Given the description of an element on the screen output the (x, y) to click on. 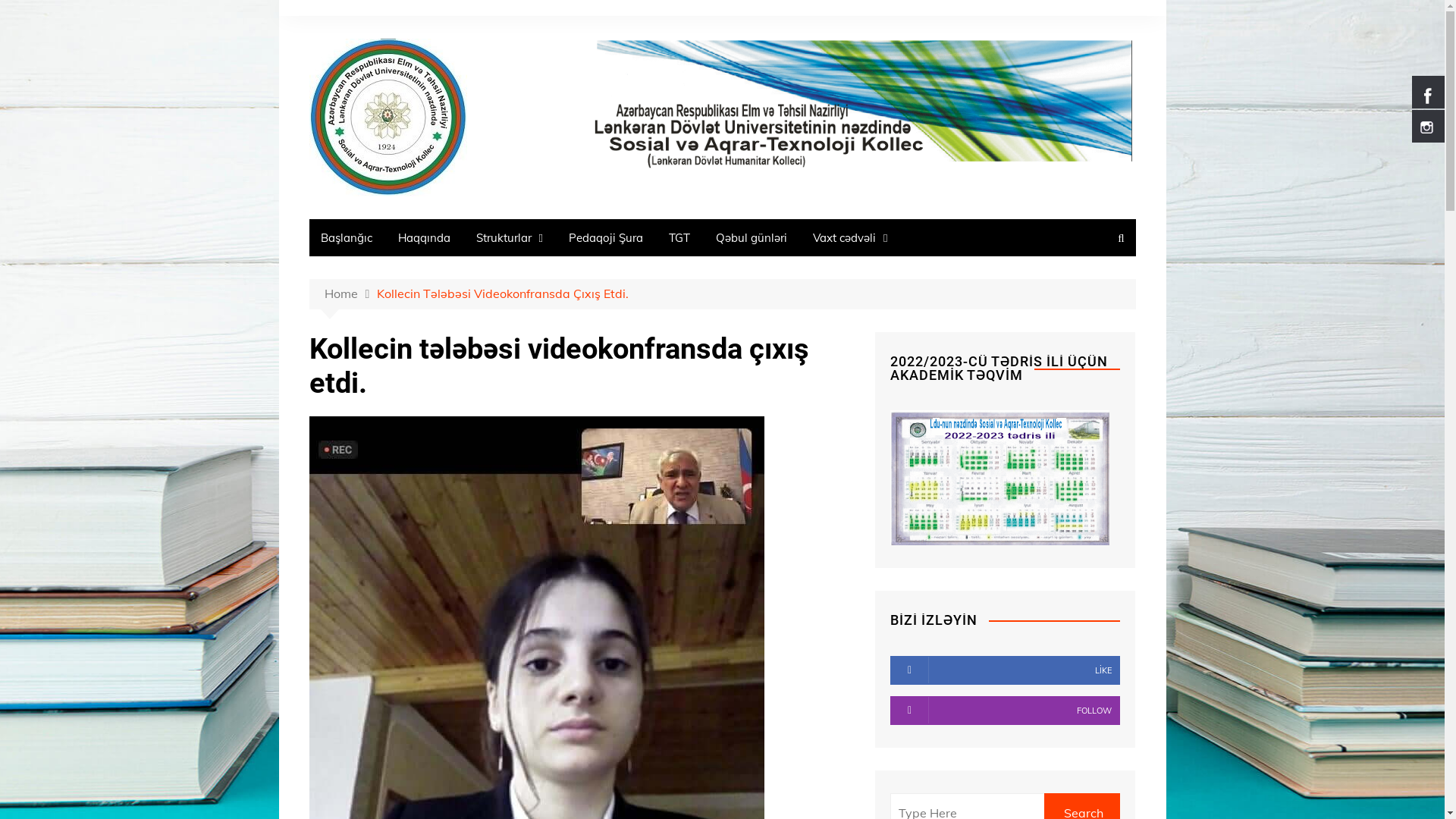
TGT Element type: text (679, 237)
Strukturlar Element type: text (508, 237)
Home Element type: text (350, 294)
LIKE Element type: text (1005, 669)
FOLLOW Element type: text (1005, 710)
